Given the description of an element on the screen output the (x, y) to click on. 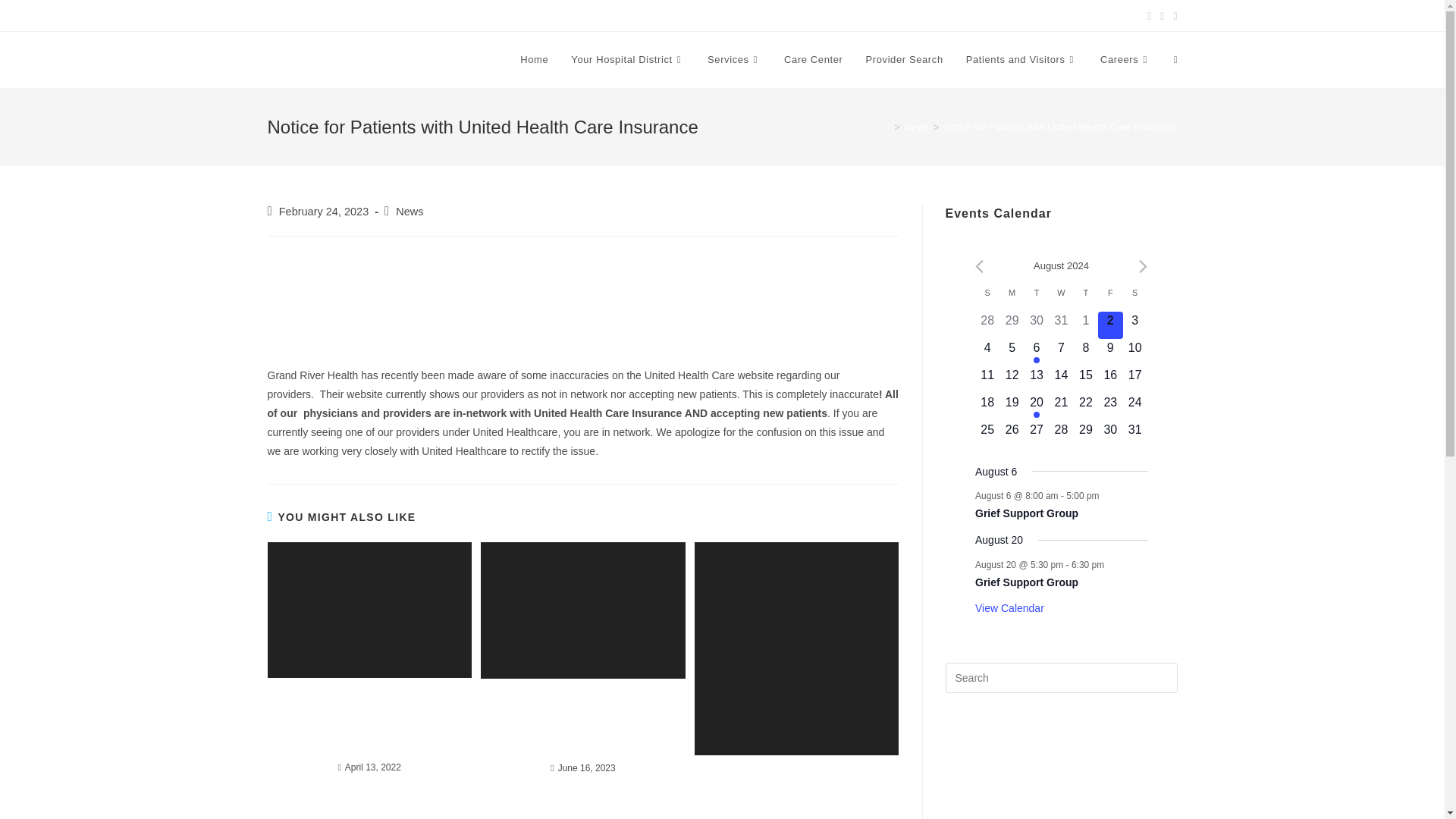
Grief Support Group (1026, 513)
Your Hospital District (627, 59)
Has events (1036, 360)
Care Center (813, 59)
970-625-1100 (582, 15)
Provider Search (903, 59)
Home (533, 59)
Grief Support Group (1026, 582)
Contact Information (670, 15)
Services (734, 59)
Patients and Visitors (1022, 59)
Patient Portal (757, 15)
Has events (1036, 414)
